Given the description of an element on the screen output the (x, y) to click on. 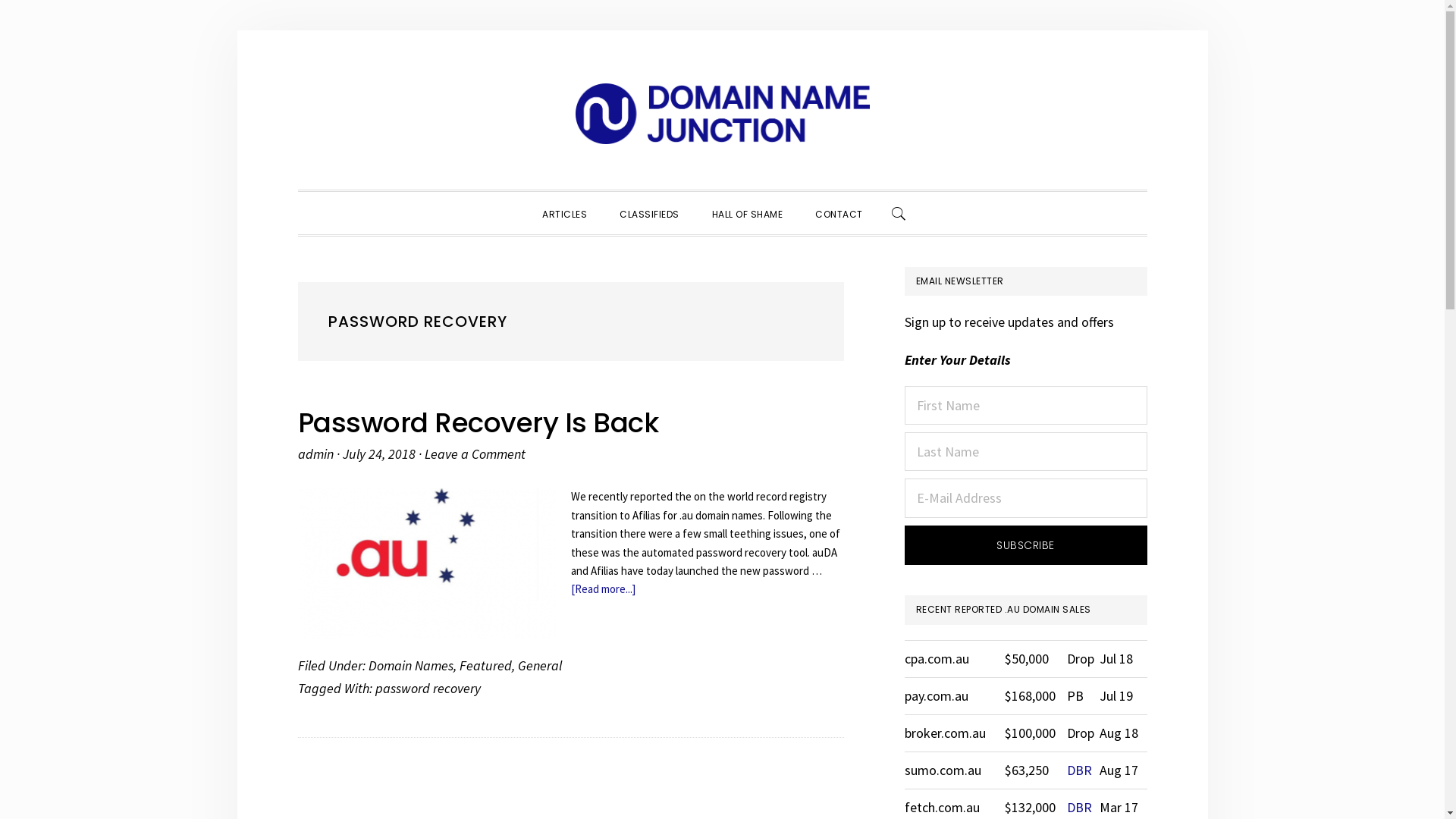
HALL OF SHAME Element type: text (746, 212)
admin Element type: text (314, 453)
General Element type: text (539, 665)
CLASSIFIEDS Element type: text (649, 212)
Featured Element type: text (485, 665)
DBR Element type: text (1079, 806)
DBR Element type: text (1079, 769)
[Read more...]
about Password Recovery Is Back Element type: text (602, 588)
Leave a Comment Element type: text (474, 453)
Subscribe Element type: text (1024, 545)
CONTACT Element type: text (839, 212)
Domain Names Element type: text (410, 665)
password recovery Element type: text (427, 687)
ARTICLES Element type: text (564, 212)
DOMAIN NAME JUNCTION Element type: text (721, 113)
Password Recovery Is Back Element type: text (477, 422)
Skip to primary navigation Element type: text (297, 30)
SHOW SEARCH Element type: text (898, 212)
